Given the description of an element on the screen output the (x, y) to click on. 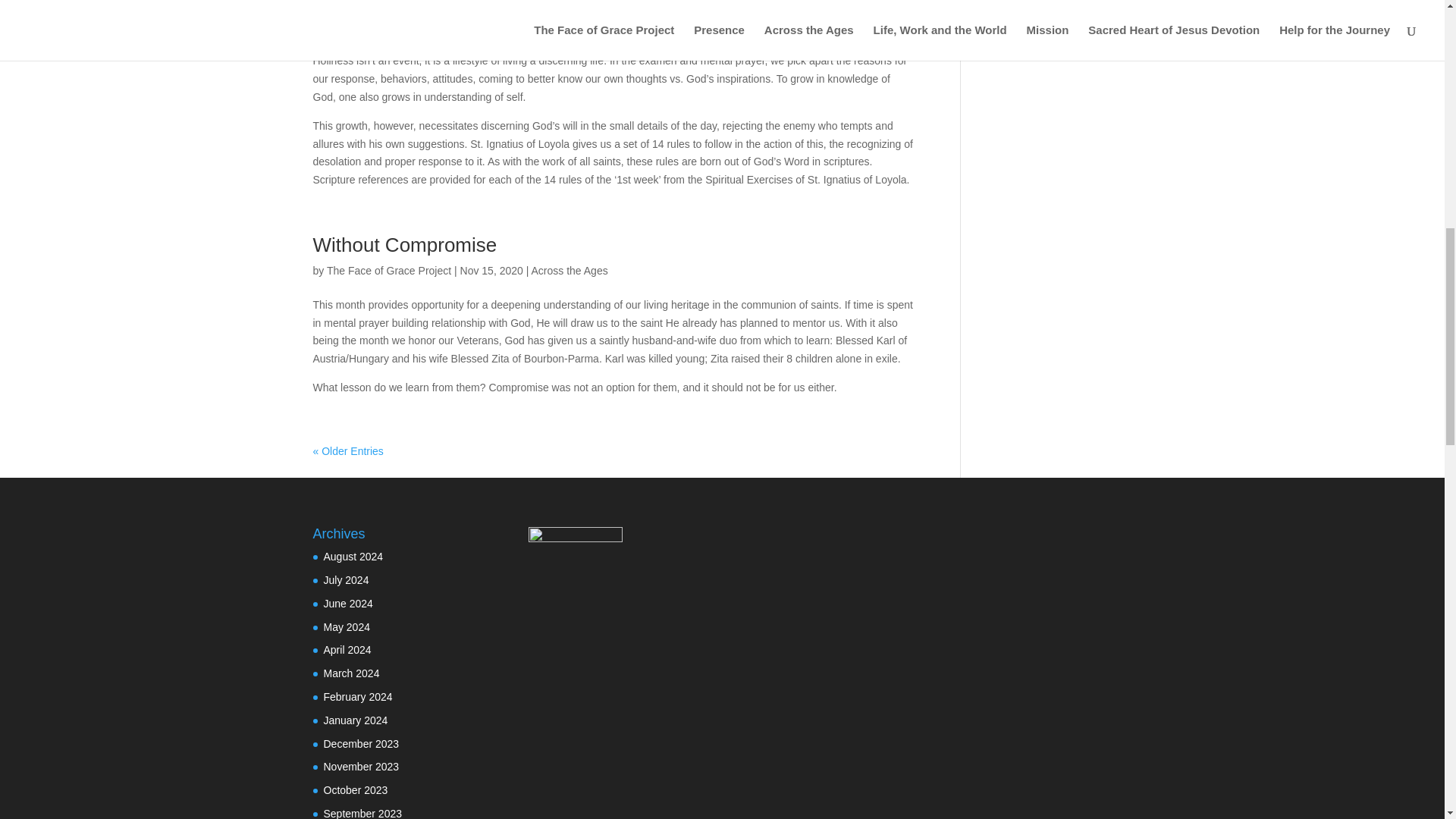
Presence (553, 27)
The Face of Grace Project (388, 270)
June 2024 (347, 603)
Posts by The Face of Grace Project (388, 270)
August 2024 (352, 556)
January 2024 (355, 720)
March 2024 (350, 673)
July 2024 (345, 580)
April 2024 (347, 649)
May 2024 (346, 626)
